Given the description of an element on the screen output the (x, y) to click on. 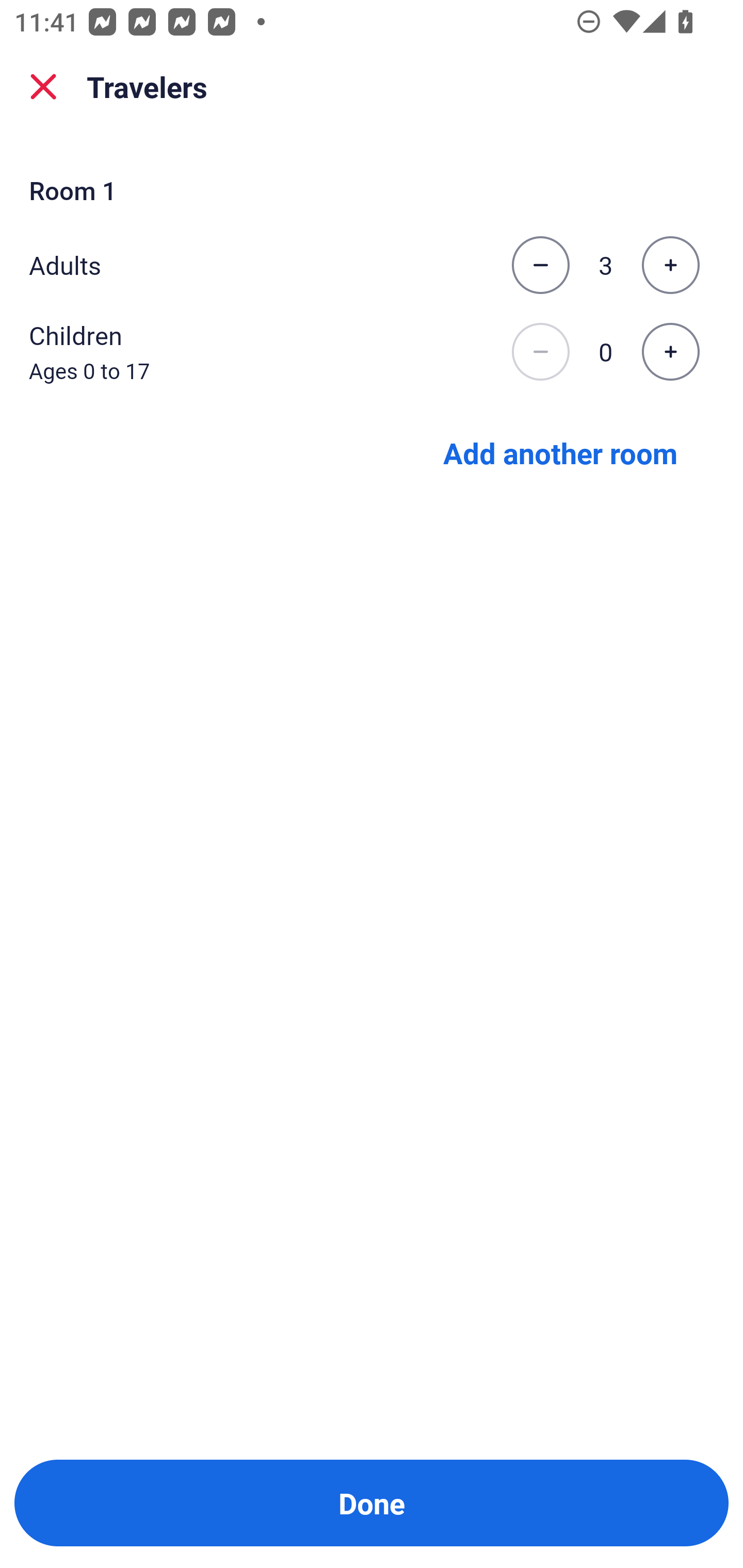
close (43, 86)
Decrease the number of adults (540, 264)
Increase the number of adults (670, 264)
Decrease the number of children (540, 351)
Increase the number of children (670, 351)
Add another room (560, 452)
Done (371, 1502)
